Given the description of an element on the screen output the (x, y) to click on. 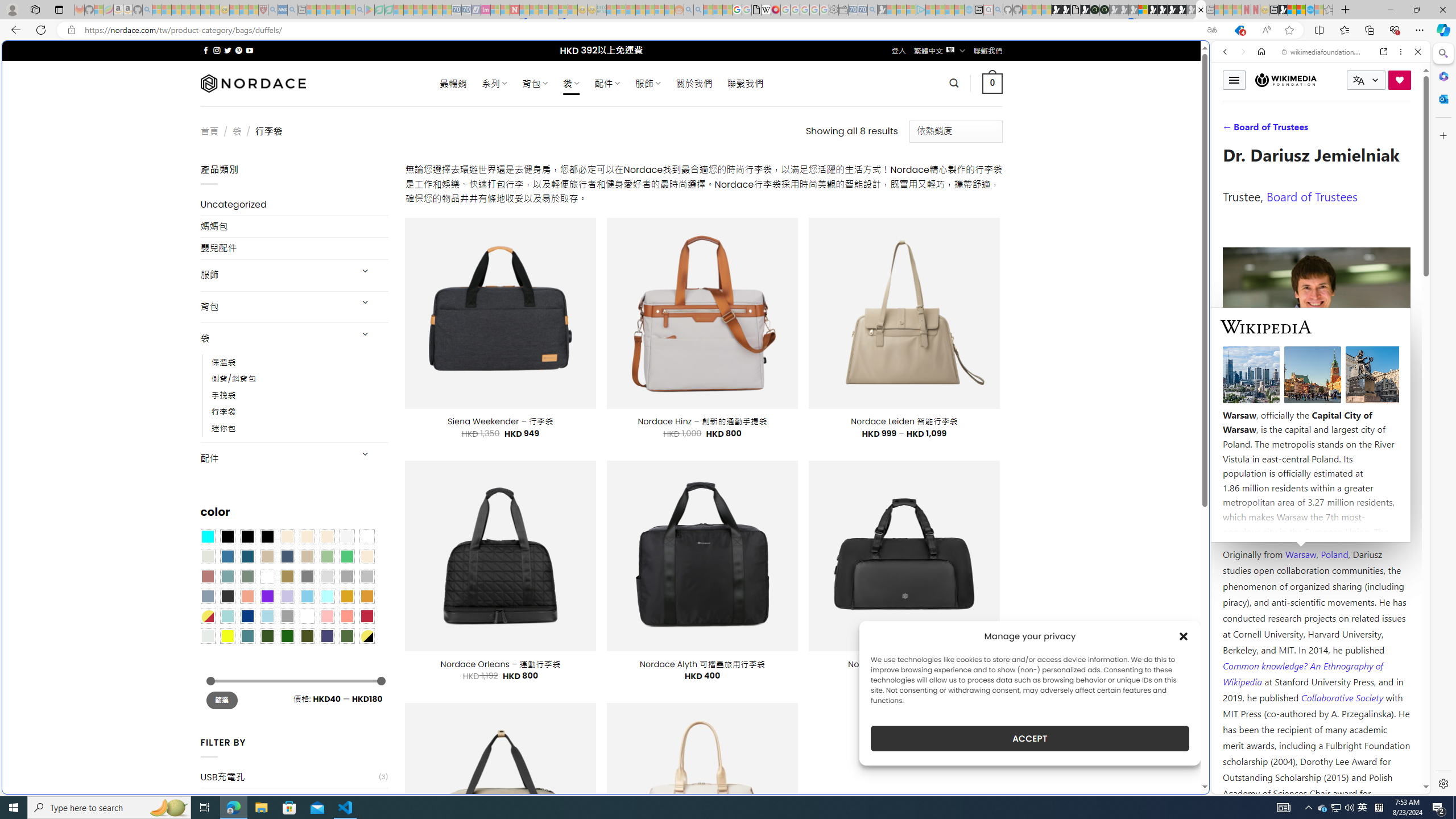
Warsaw (1300, 554)
